Given the description of an element on the screen output the (x, y) to click on. 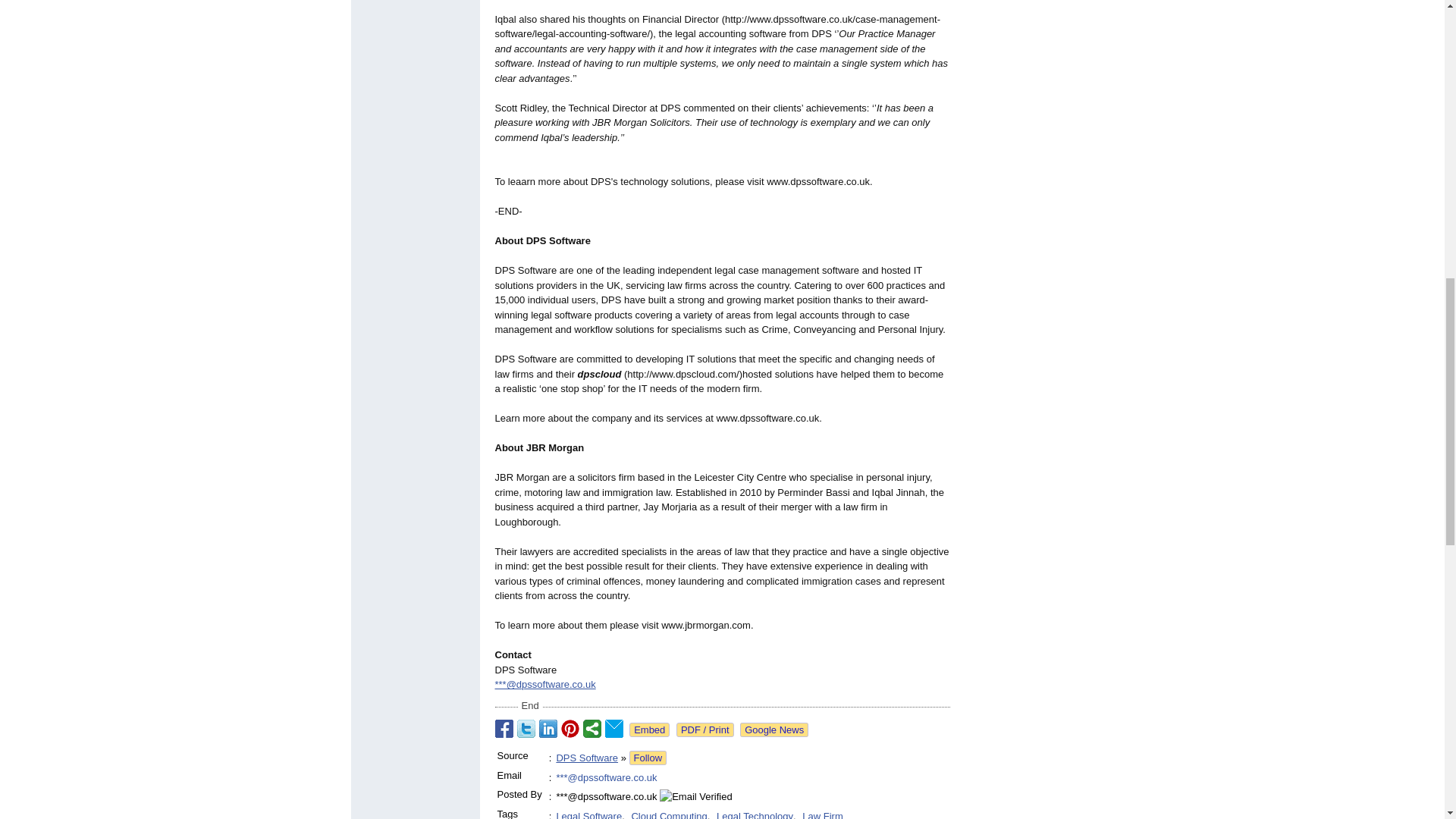
Share on LinkedIn (547, 728)
Email to a Friend (614, 728)
Embed this press release in your website! (648, 729)
Share on StumbleUpon, Digg, etc (590, 728)
Share on Twitter (525, 728)
Share on Pinterest (569, 728)
See or print the PDF version! (705, 729)
Embed (648, 729)
Share on Facebook (503, 728)
Email Verified (695, 796)
